Given the description of an element on the screen output the (x, y) to click on. 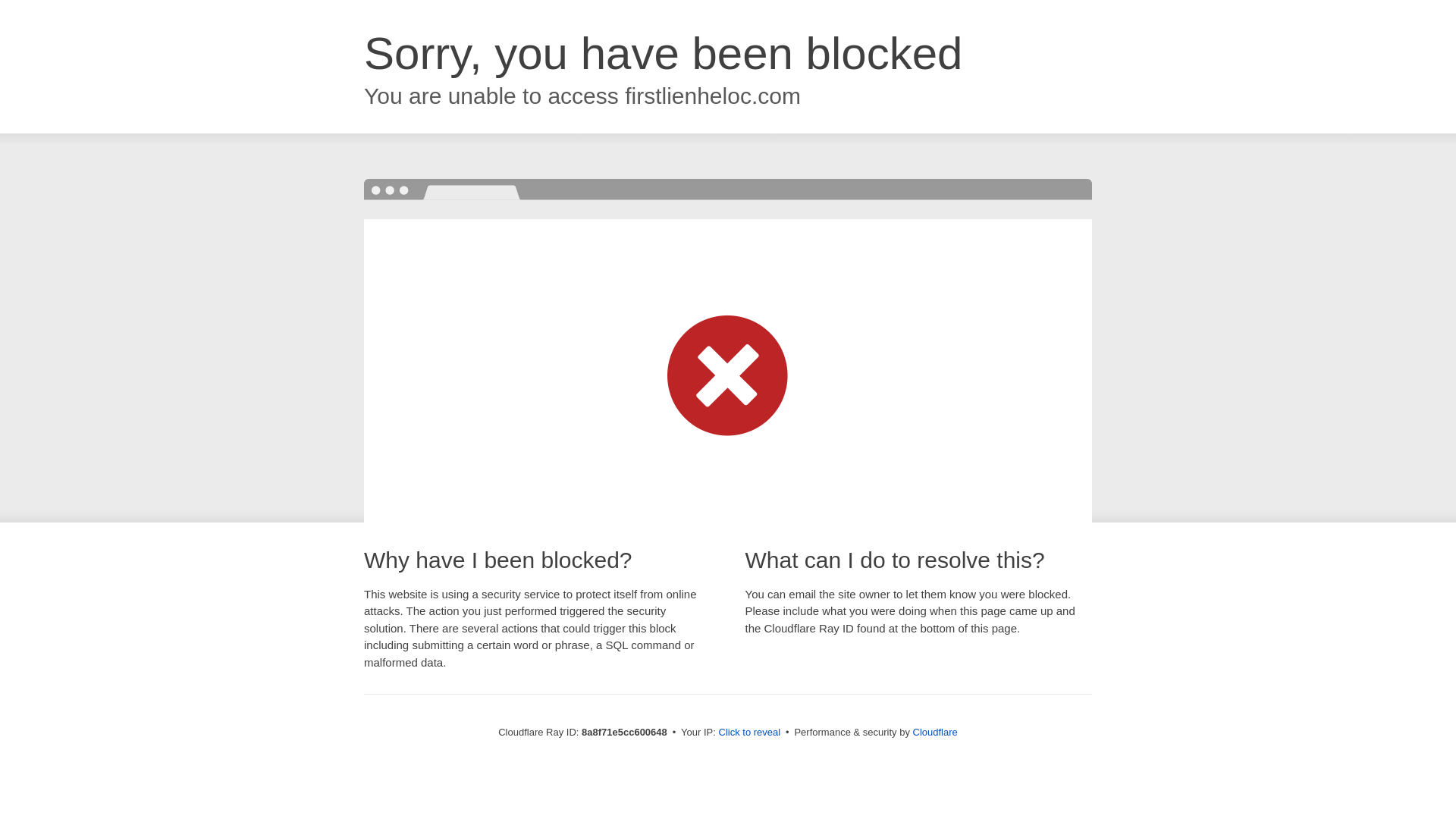
Click to reveal (749, 732)
Cloudflare (935, 731)
